Given the description of an element on the screen output the (x, y) to click on. 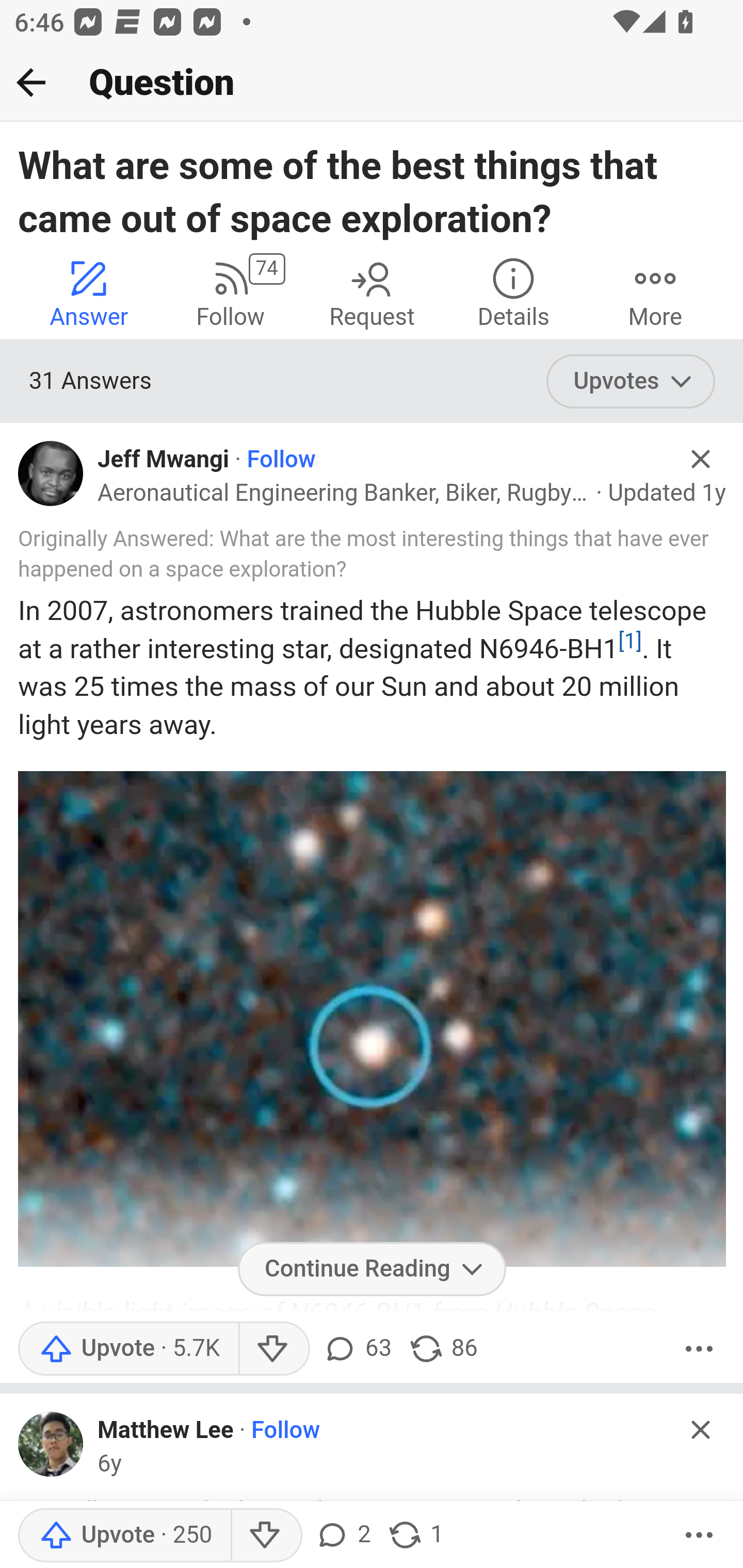
Back Question (371, 82)
Back (30, 82)
Answer (88, 292)
74 Follow (230, 292)
Request (371, 292)
Details (513, 292)
More (655, 292)
Upvotes (630, 381)
Hide (700, 459)
Profile photo for Jeff Mwangi (50, 473)
Jeff Mwangi (164, 459)
Follow (280, 459)
Updated 1y Updated  1 y (667, 493)
[1] [ 1 ] (629, 641)
Continue Reading (371, 1268)
Upvote (127, 1348)
Downvote (273, 1348)
63 comments (356, 1348)
86 shares (442, 1348)
More (699, 1348)
Hide (700, 1428)
Profile photo for Matthew Lee (50, 1444)
Matthew Lee (165, 1430)
Follow (286, 1430)
6y 6 y (109, 1464)
Upvote (124, 1535)
Downvote (266, 1535)
2 comments (342, 1535)
1 share (414, 1535)
More (699, 1535)
